Given the description of an element on the screen output the (x, y) to click on. 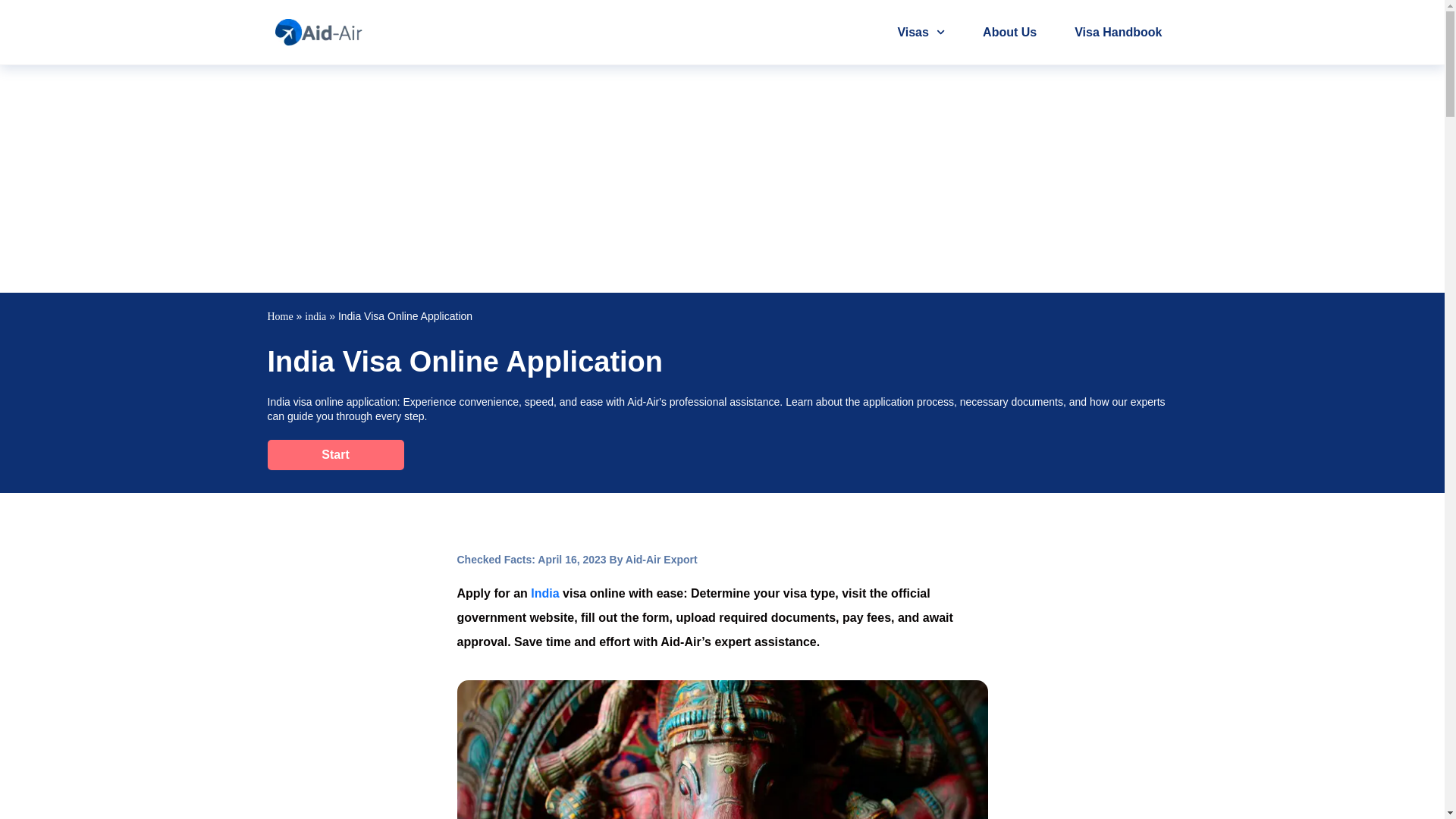
india (315, 316)
Visa Handbook (1118, 31)
About Us (1009, 31)
Start (334, 454)
Visas (920, 31)
Home (279, 316)
India (545, 593)
